Given the description of an element on the screen output the (x, y) to click on. 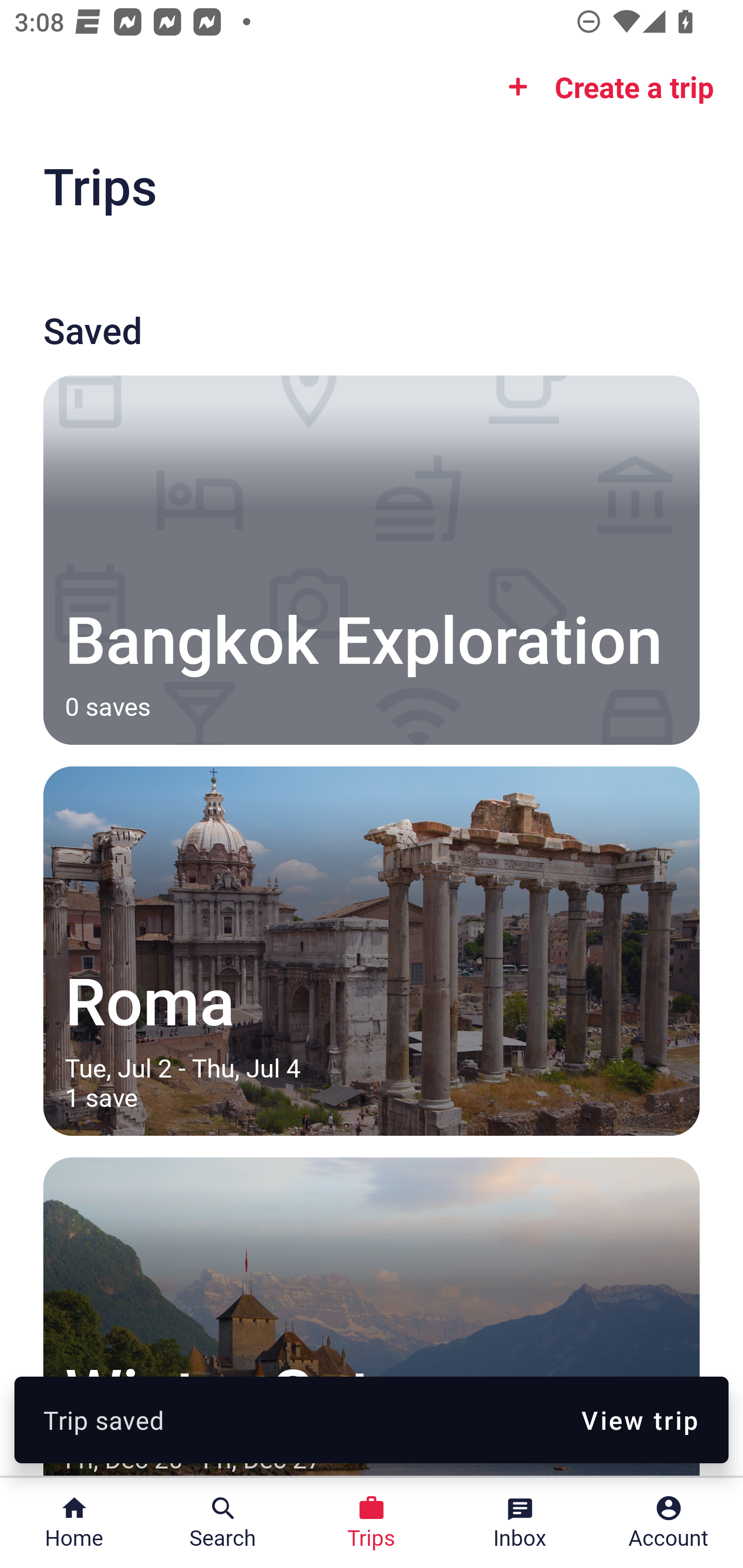
Create a trip Create a trip Button (605, 86)
View trip (640, 1419)
Home Home Button (74, 1522)
Search Search Button (222, 1522)
Inbox Inbox Button (519, 1522)
Account Profile. Button (668, 1522)
